Given the description of an element on the screen output the (x, y) to click on. 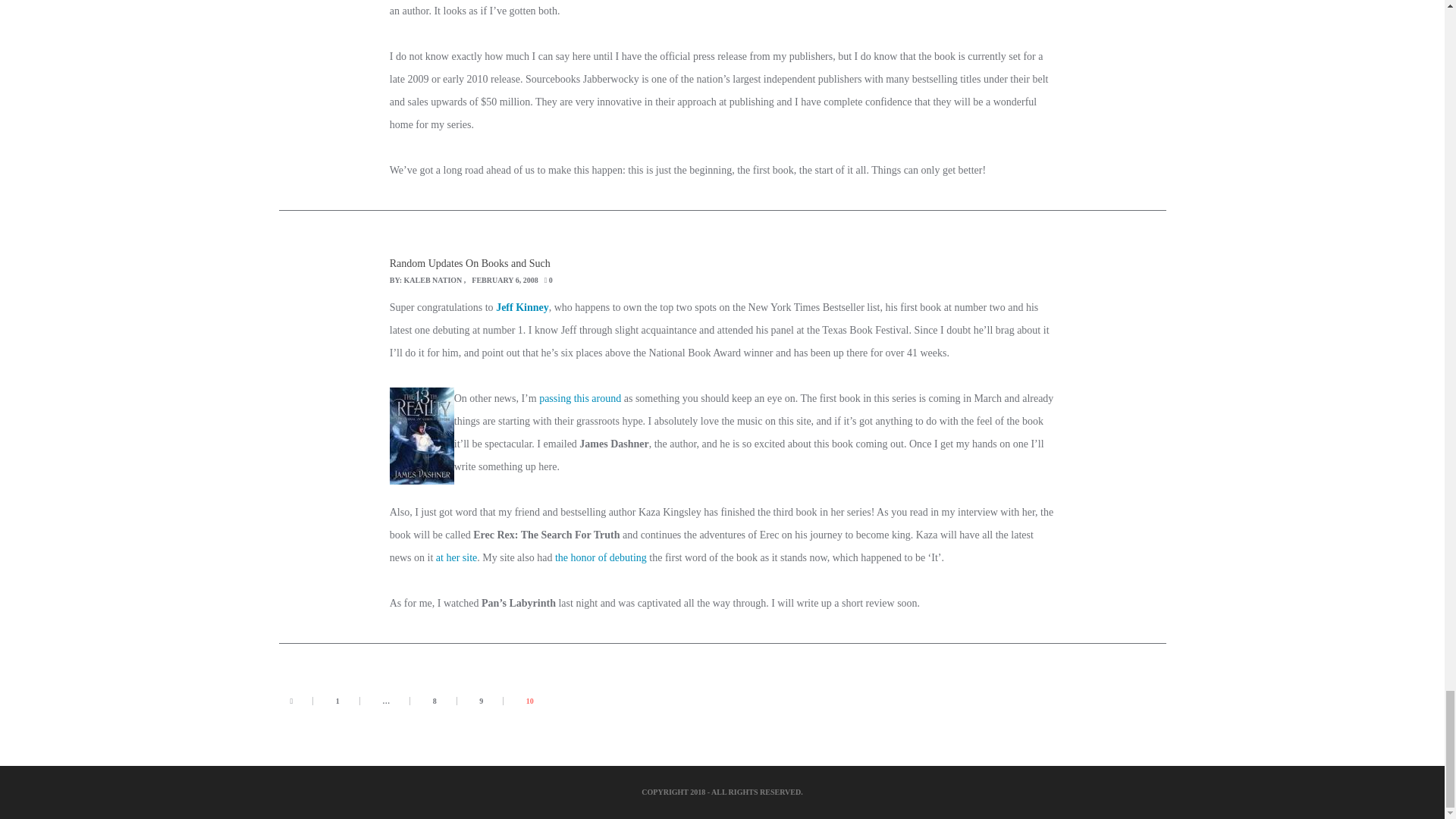
Posts by Kaleb Nation (433, 280)
